Given the description of an element on the screen output the (x, y) to click on. 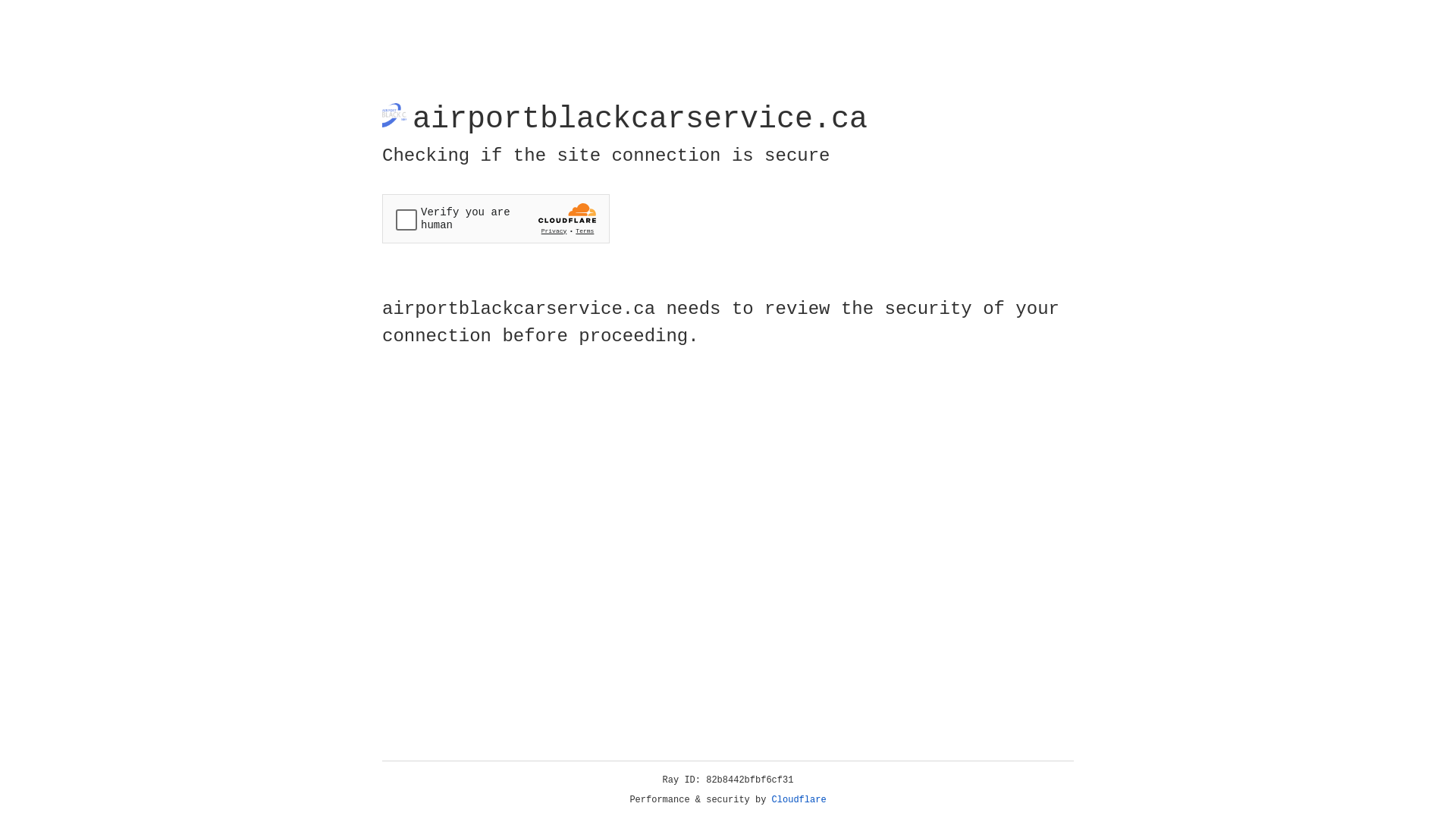
Widget containing a Cloudflare security challenge Element type: hover (495, 218)
Cloudflare Element type: text (798, 799)
